Given the description of an element on the screen output the (x, y) to click on. 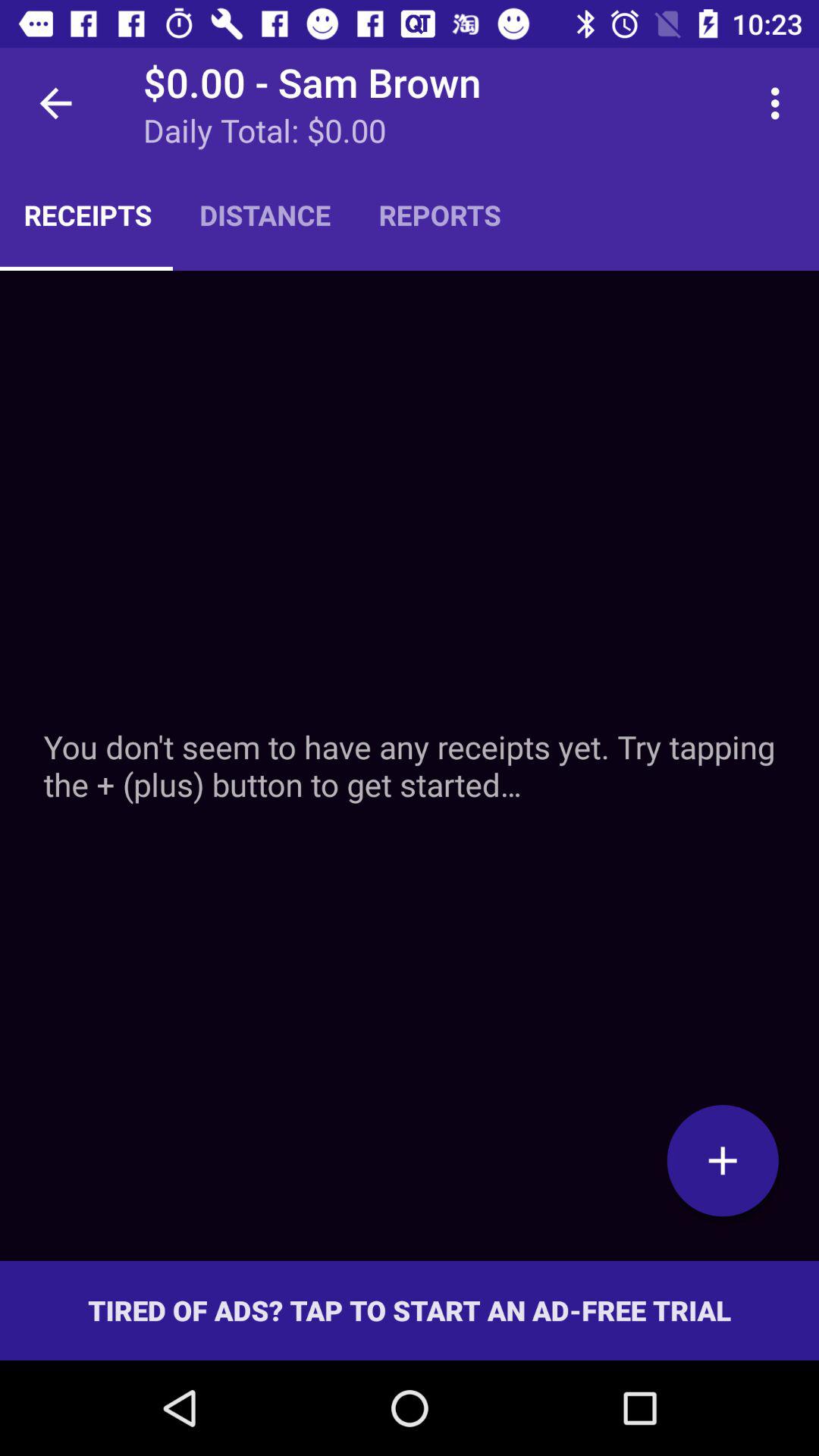
open the item next to the distance (439, 214)
